Given the description of an element on the screen output the (x, y) to click on. 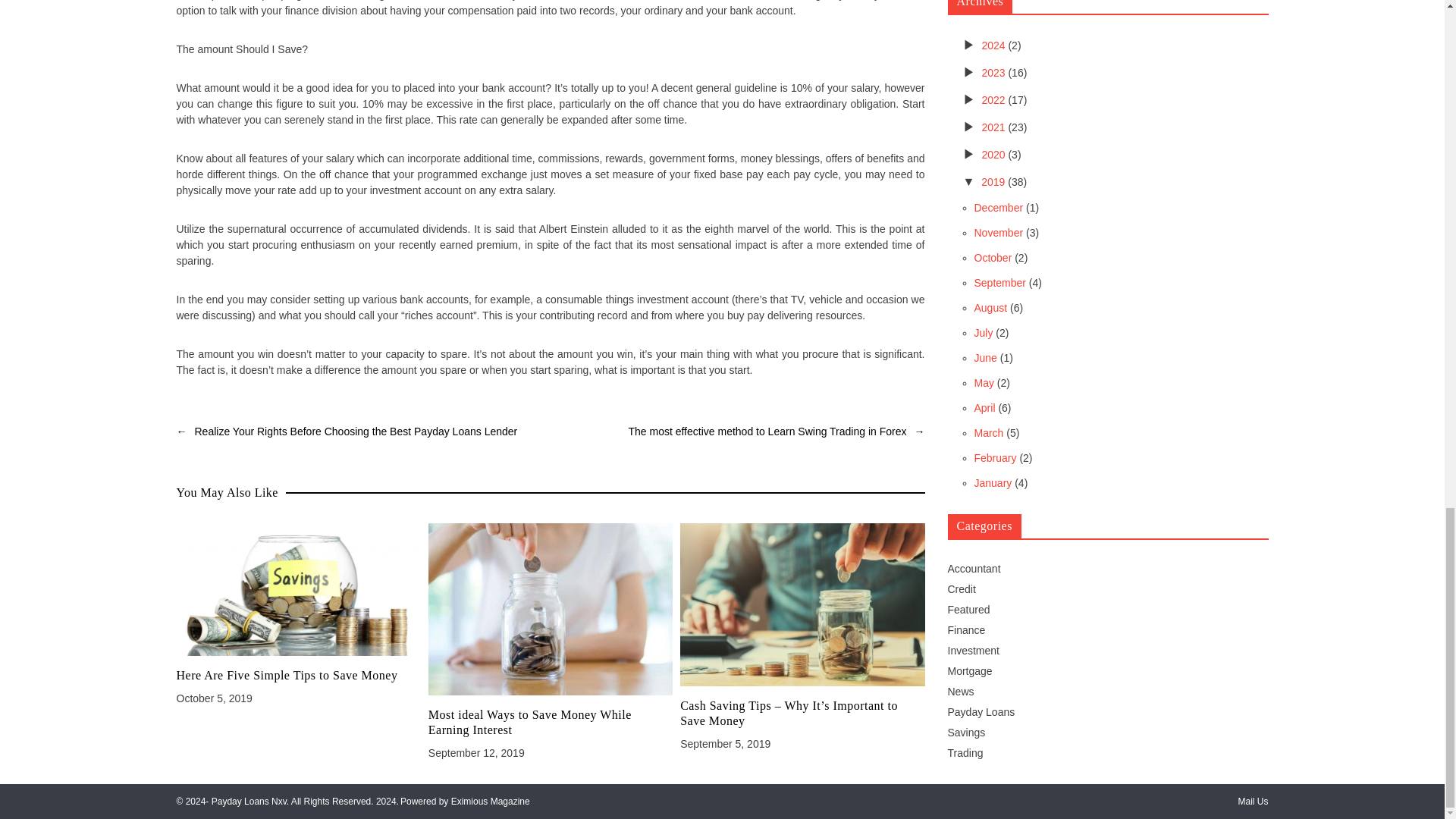
Here Are Five Simple Tips to Save Money (298, 675)
Most ideal Ways to Save Money While Earning Interest (550, 722)
